Given the description of an element on the screen output the (x, y) to click on. 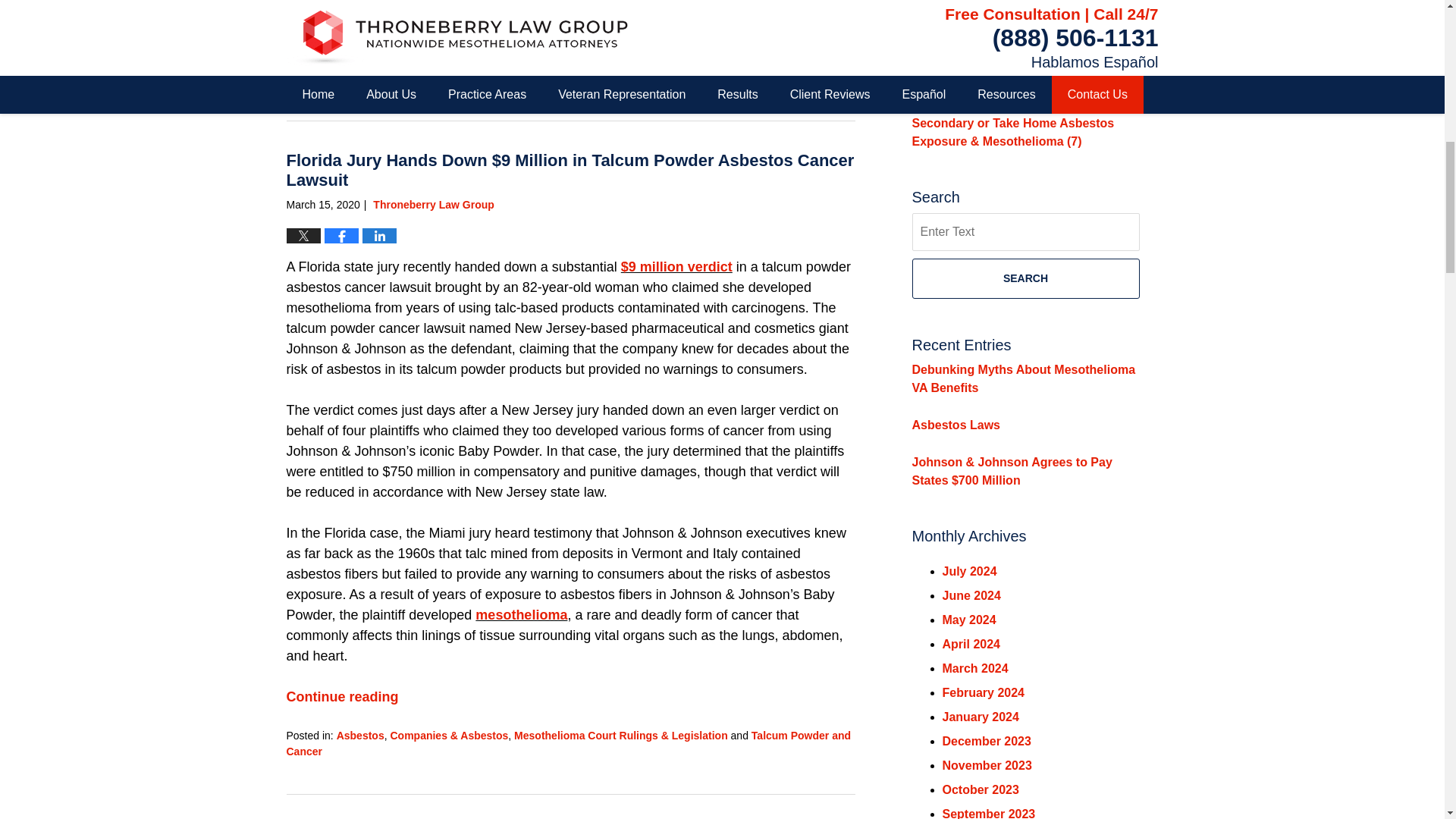
Continue reading (342, 23)
View all posts in Talcum Powder and Cancer (568, 743)
View all posts in Asbestos (360, 61)
View all posts in Asbestos (360, 735)
View all posts in Mesothelioma Attorney (571, 61)
